Given the description of an element on the screen output the (x, y) to click on. 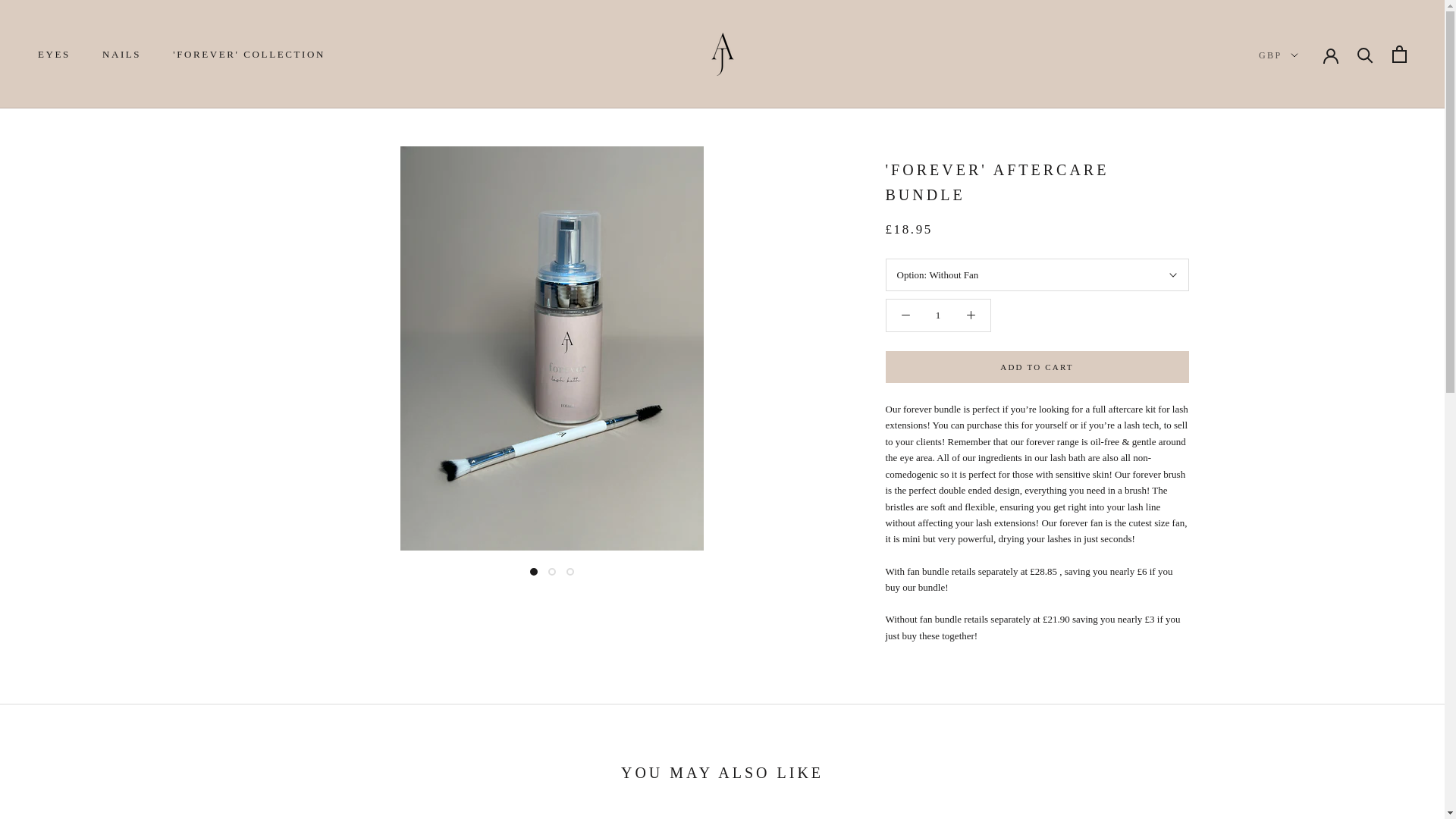
1 (938, 315)
NAILS (121, 53)
Currency selector (1278, 54)
EYES (53, 53)
'FOREVER' COLLECTION (248, 53)
